Given the description of an element on the screen output the (x, y) to click on. 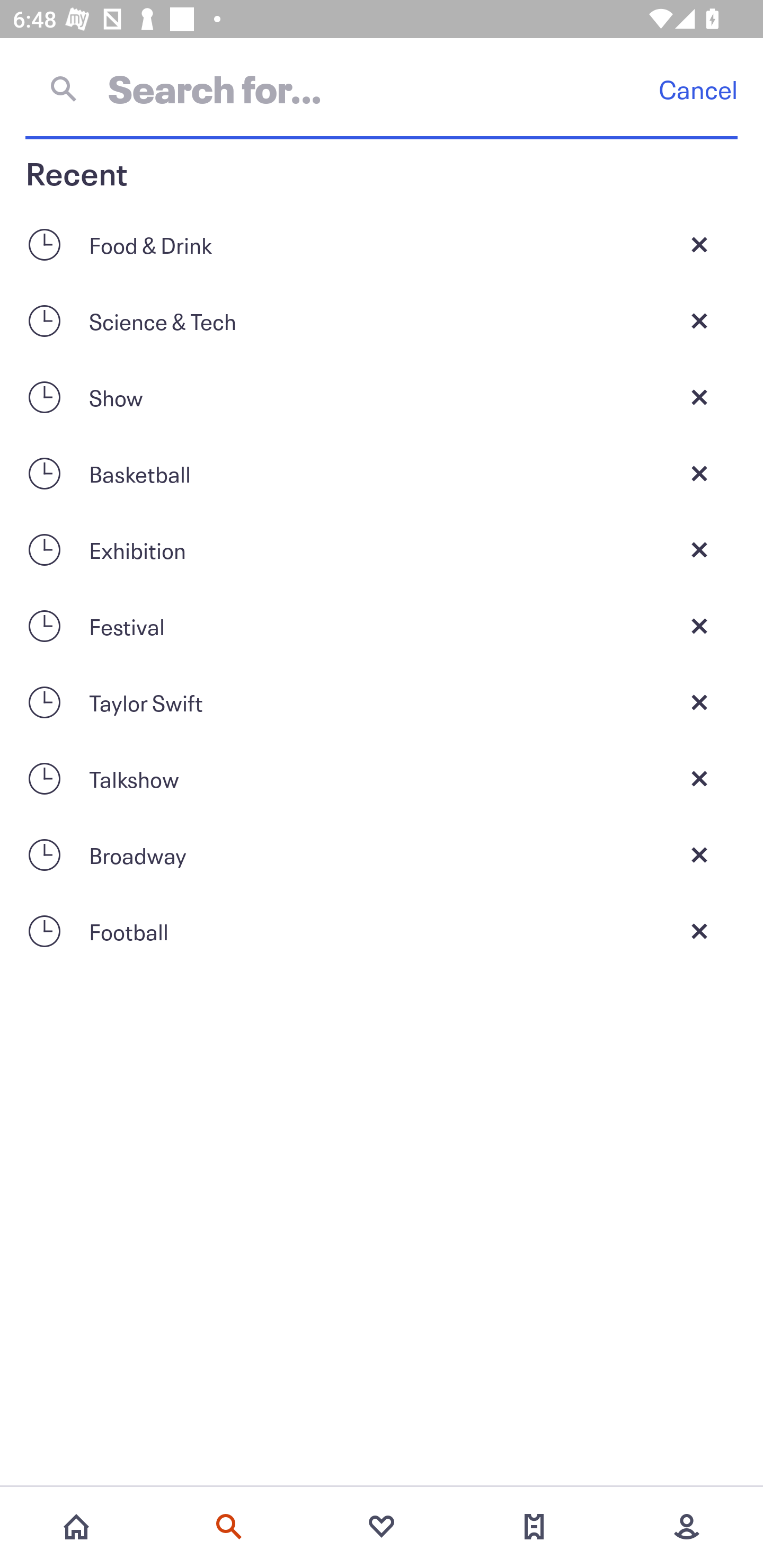
Cancel Search for… (381, 88)
Cancel (697, 89)
Food & Drink Close current screen (381, 244)
Close current screen (699, 244)
Science & Tech Close current screen (381, 320)
Close current screen (699, 320)
Show Close current screen (381, 397)
Close current screen (699, 397)
Basketball Close current screen (381, 473)
Close current screen (699, 473)
Exhibition Close current screen (381, 549)
Close current screen (699, 549)
Festival Close current screen (381, 626)
Close current screen (699, 626)
Taylor Swift Close current screen (381, 702)
Close current screen (699, 702)
Talkshow Close current screen (381, 778)
Close current screen (699, 778)
Broadway Close current screen (381, 854)
Close current screen (699, 854)
Football Close current screen (381, 931)
Close current screen (699, 931)
Home (76, 1526)
Search events (228, 1526)
Favorites (381, 1526)
Tickets (533, 1526)
More (686, 1526)
